Given the description of an element on the screen output the (x, y) to click on. 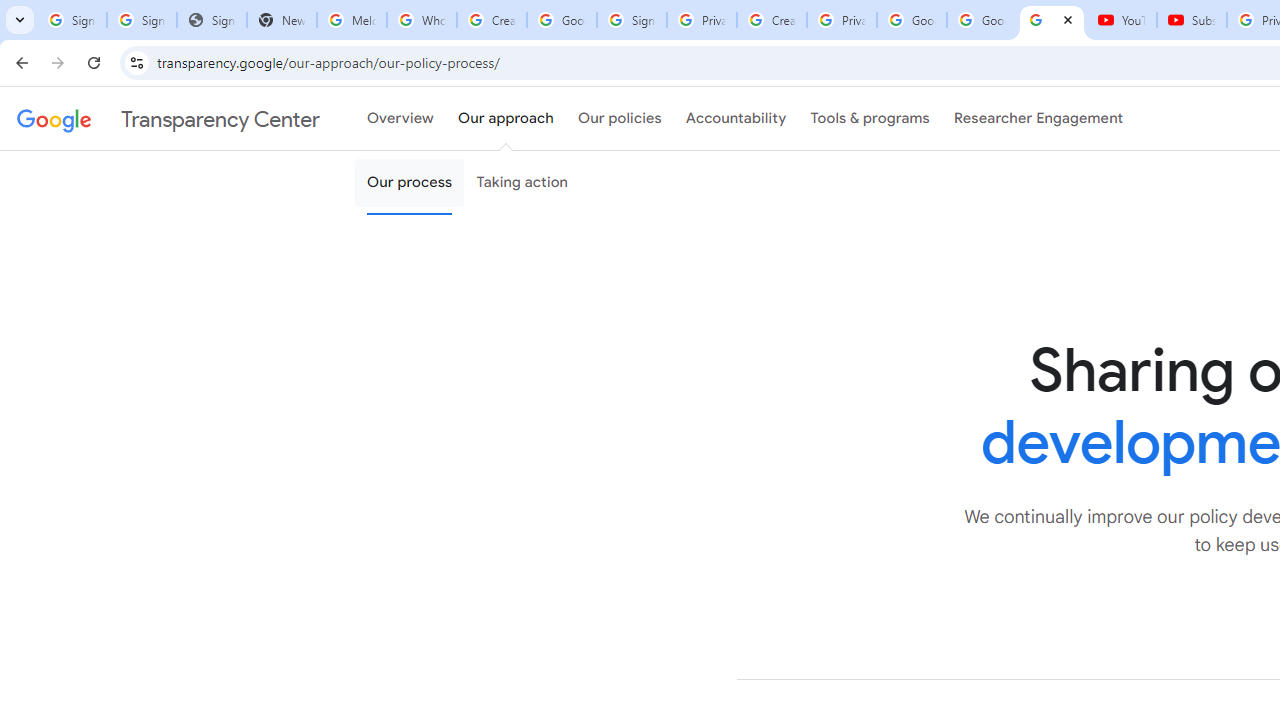
Sign in - Google Accounts (141, 20)
Transparency Center (167, 119)
Our process (409, 183)
New Tab (282, 20)
YouTube (1121, 20)
Who is my administrator? - Google Account Help (421, 20)
Researcher Engagement (1038, 119)
Our policies (619, 119)
Our approach (506, 119)
